Given the description of an element on the screen output the (x, y) to click on. 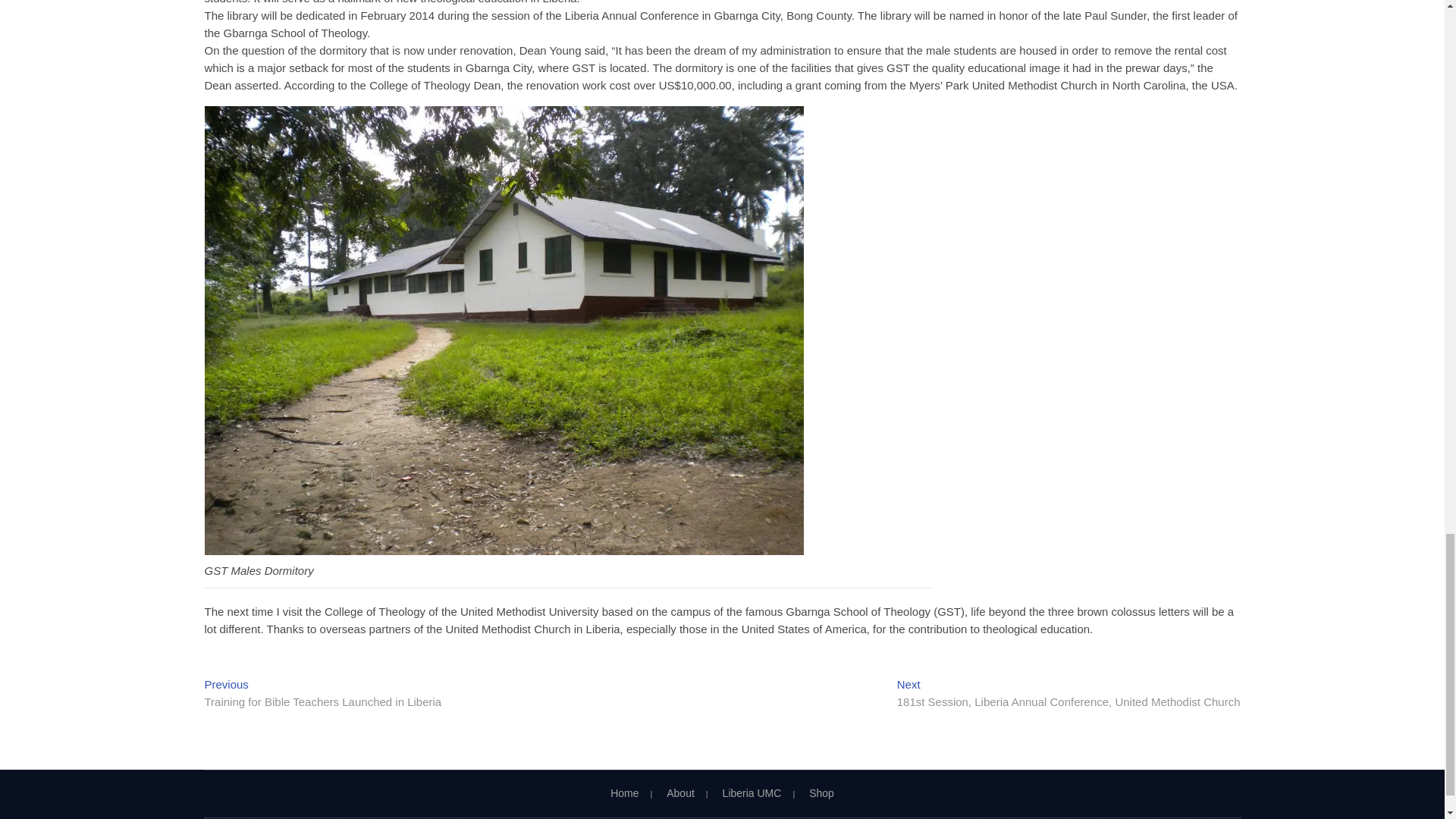
Liberia UMC (752, 793)
Home (623, 793)
About (680, 793)
Shop (821, 793)
